Given the description of an element on the screen output the (x, y) to click on. 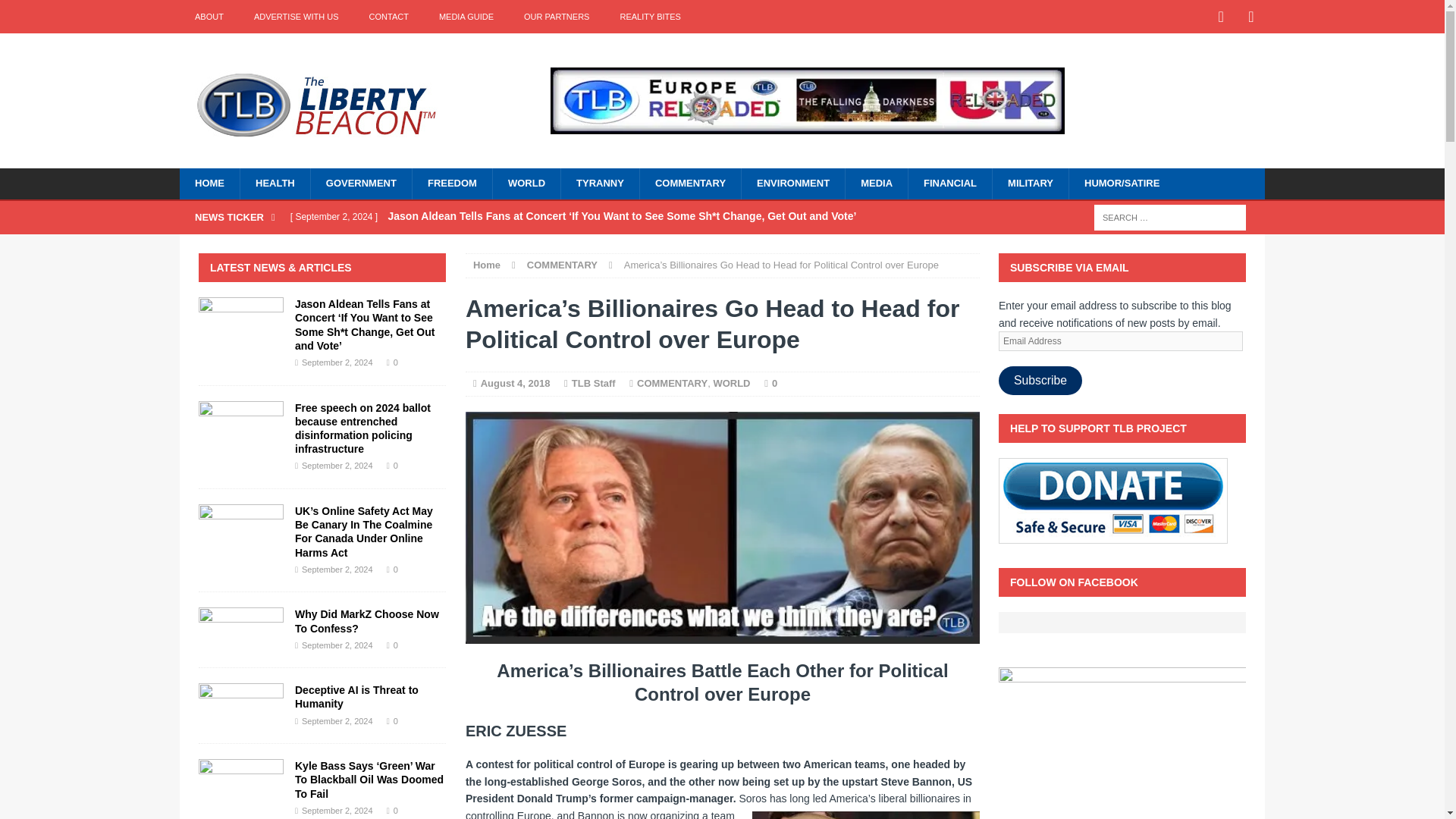
The Liberty Beacon (350, 95)
MEDIA (875, 183)
August 4, 2018 (515, 383)
WORLD (526, 183)
ADVERTISE WITH US (295, 16)
OUR PARTNERS (556, 16)
Home (486, 265)
ABOUT (208, 16)
CONTACT (388, 16)
FINANCIAL (949, 183)
